Given the description of an element on the screen output the (x, y) to click on. 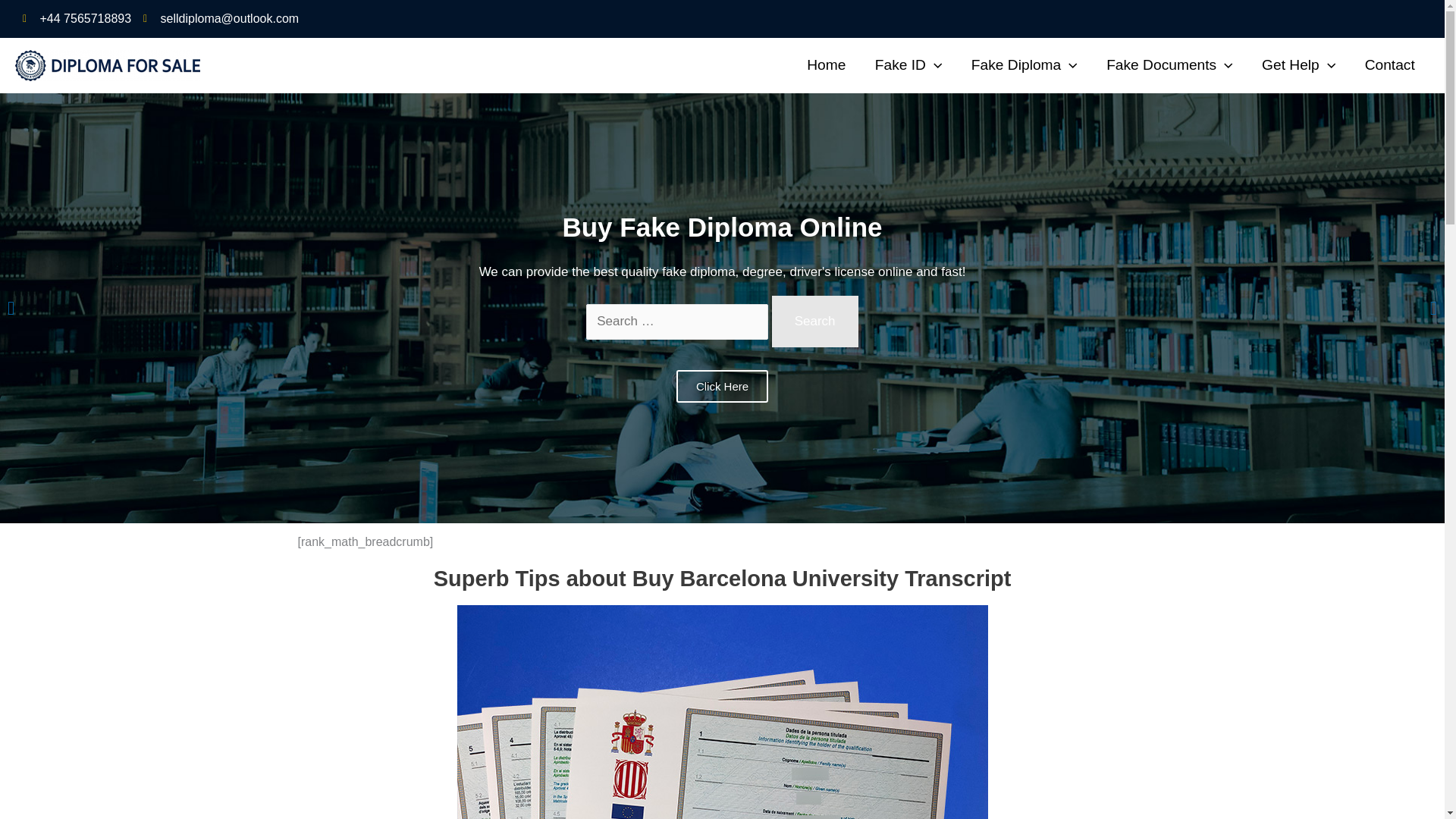
Search (815, 321)
Contact (1389, 65)
Get Help (1299, 65)
Fake ID (908, 65)
Search (815, 321)
Barcelona University Transcript (722, 712)
Home (826, 65)
Fake Diploma (1024, 65)
Fake Documents (1169, 65)
